Given the description of an element on the screen output the (x, y) to click on. 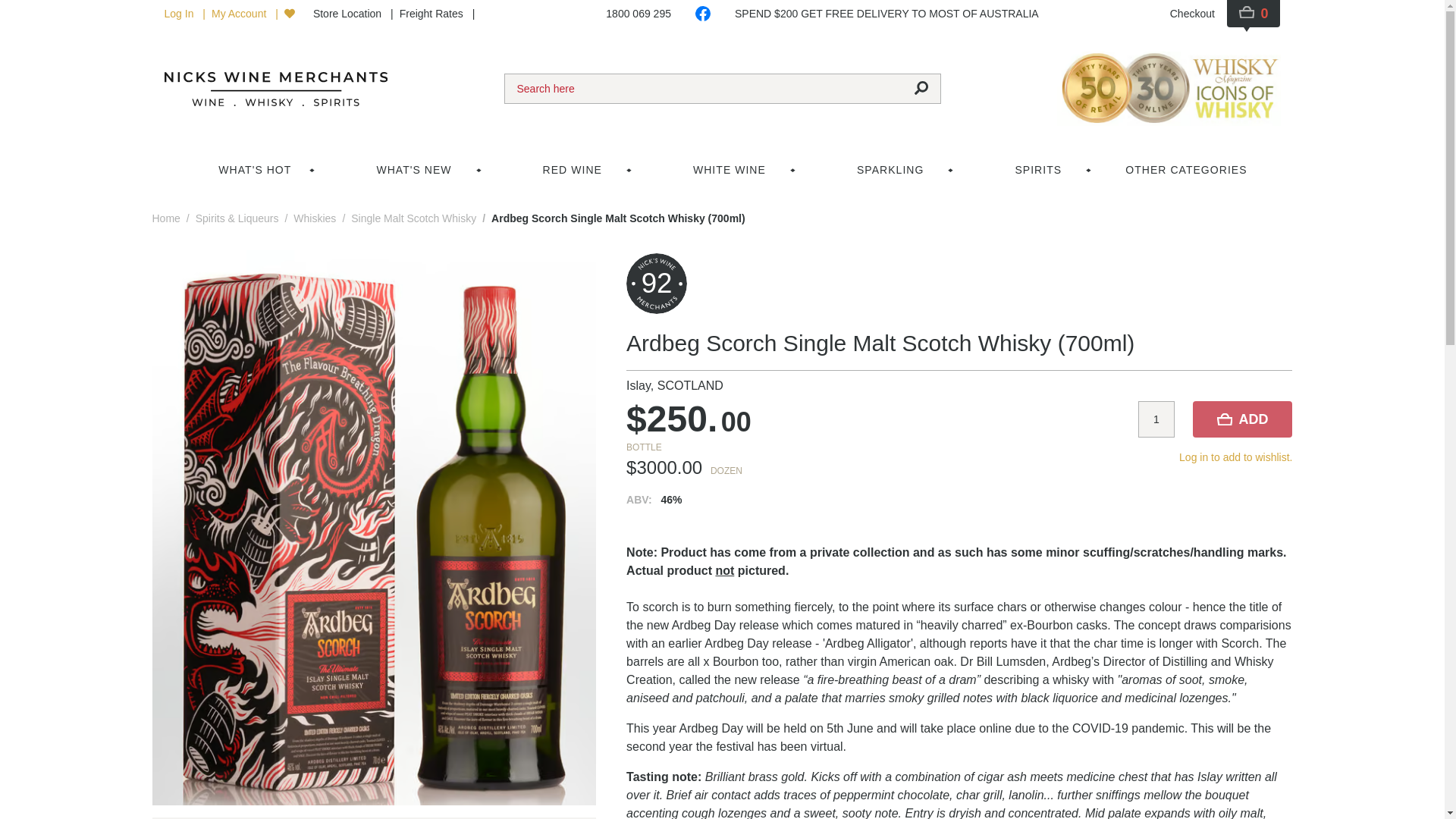
Log In (182, 13)
1 (1156, 419)
My Account (240, 13)
WHAT'S HOT (254, 169)
WHAT'S NEW (416, 169)
1800 069 295 (638, 16)
Checkout (1192, 16)
0 (1254, 13)
Freight Rates (432, 13)
RED WINE (575, 169)
